Given the description of an element on the screen output the (x, y) to click on. 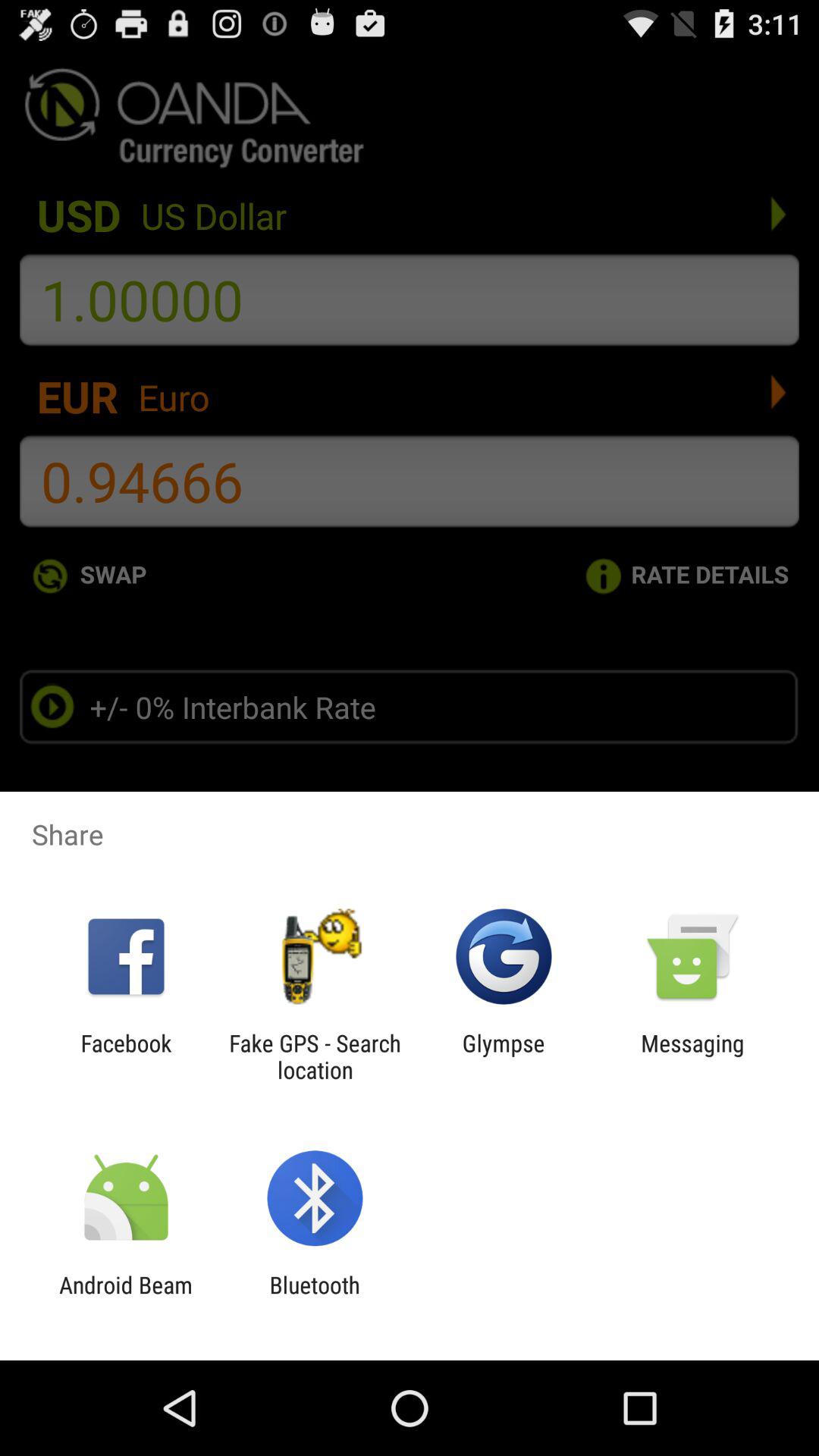
click fake gps search app (314, 1056)
